Given the description of an element on the screen output the (x, y) to click on. 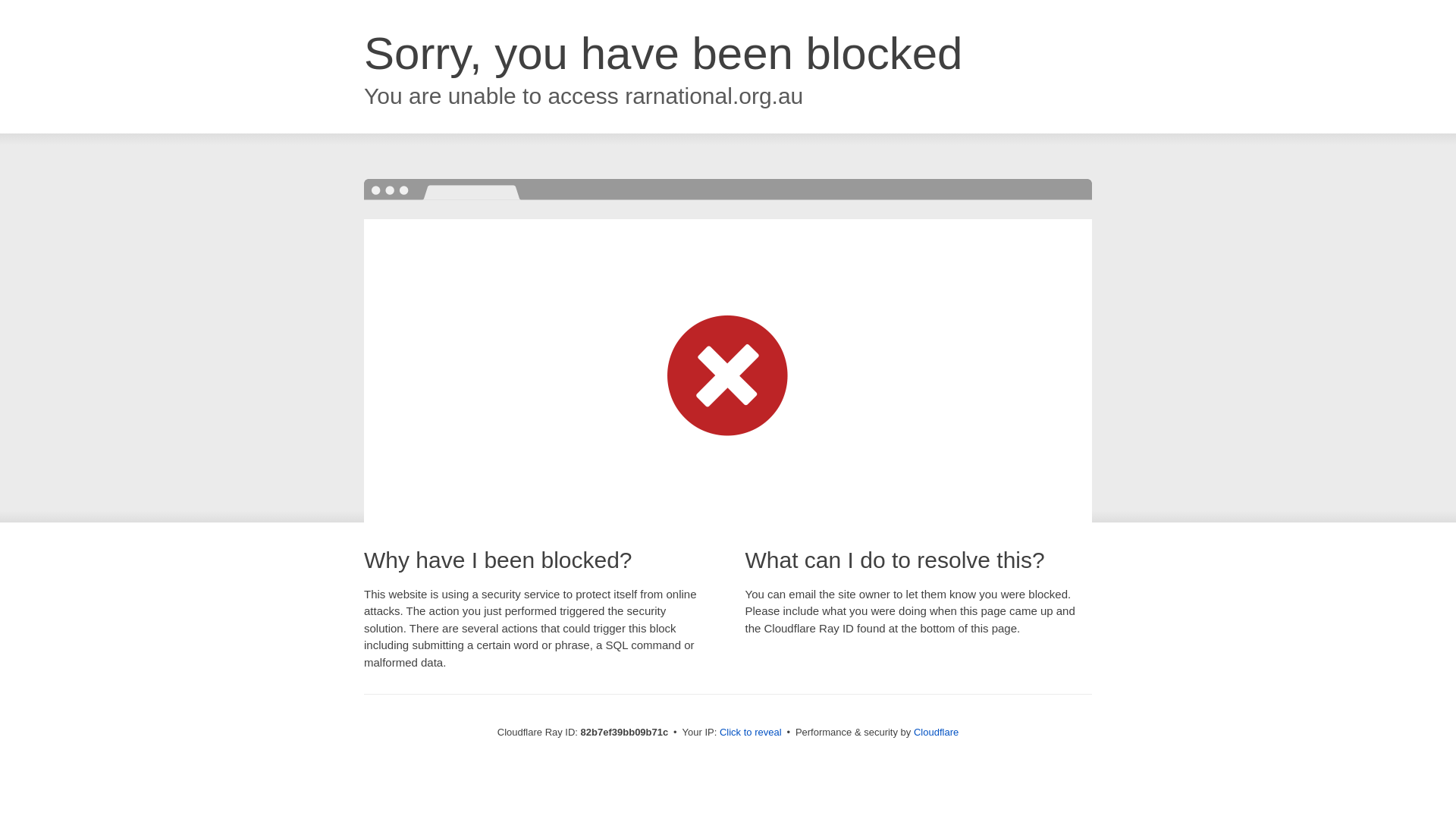
Click to reveal Element type: text (750, 732)
Cloudflare Element type: text (935, 731)
